Given the description of an element on the screen output the (x, y) to click on. 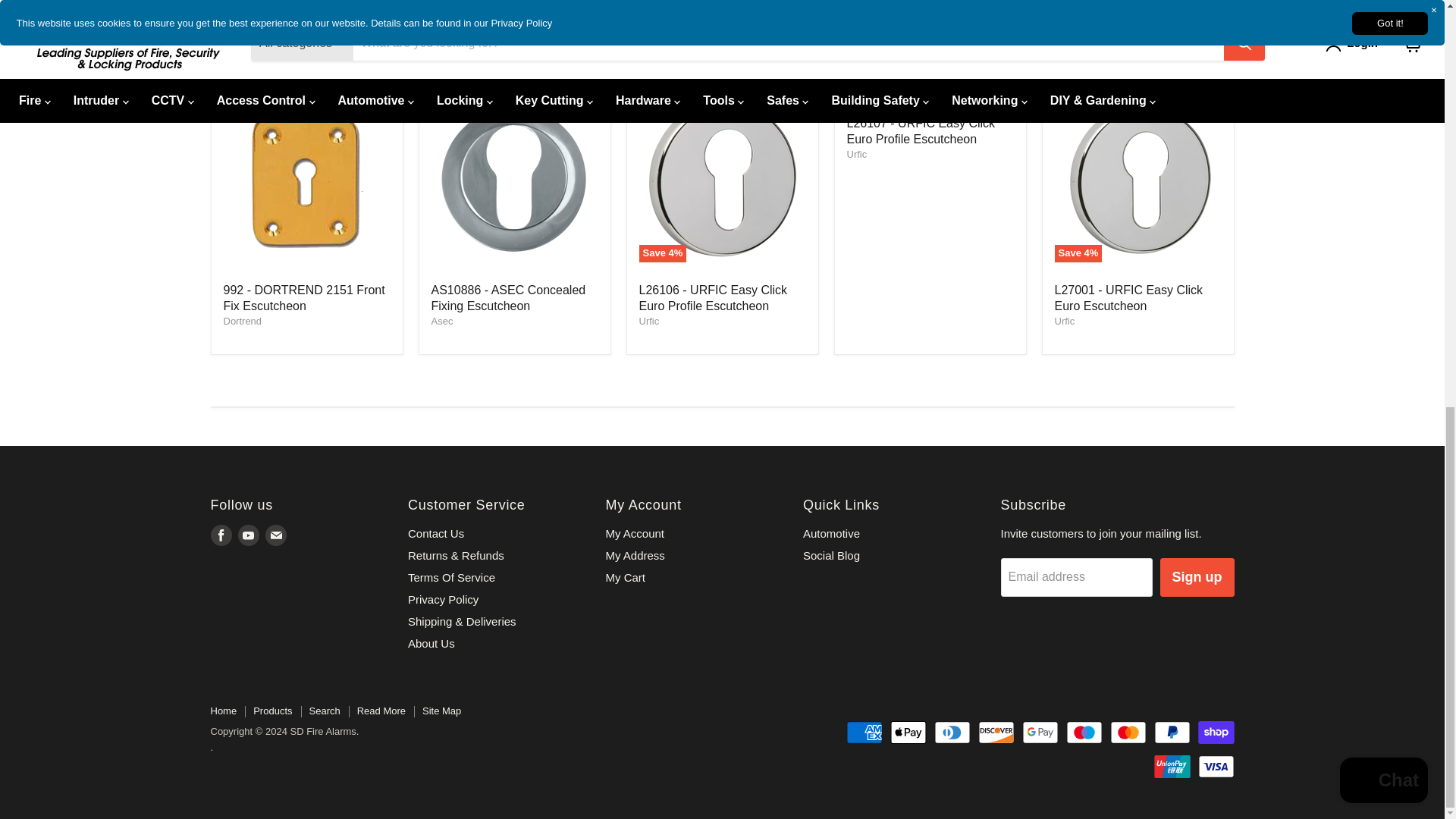
Youtube (248, 535)
Urfic (1064, 320)
Urfic (855, 153)
Asec (441, 320)
Urfic (649, 320)
Email (275, 535)
Dortrend (242, 320)
Facebook (221, 535)
